Given the description of an element on the screen output the (x, y) to click on. 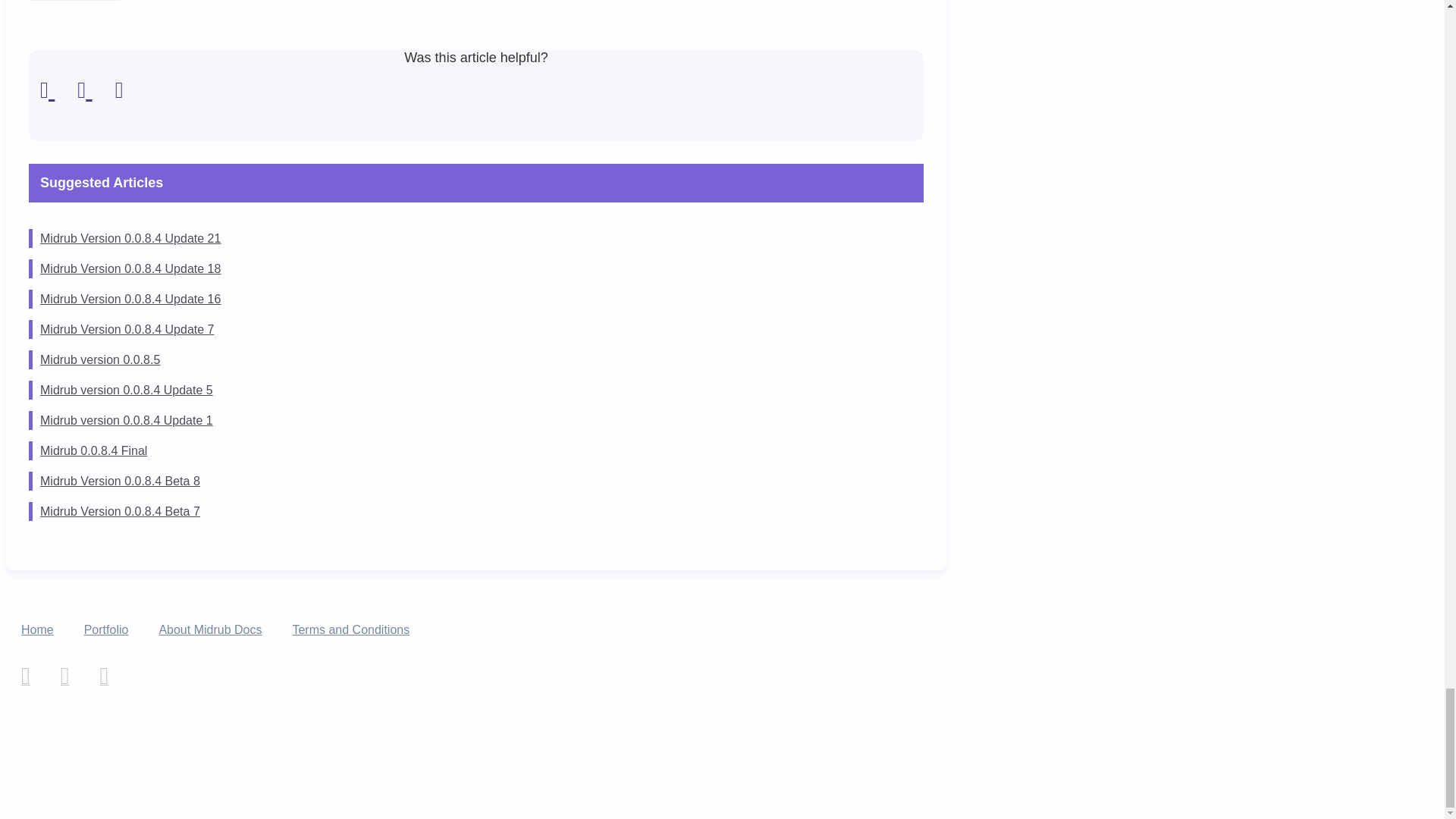
Midrub Version 0.0.8.4 Update 21 (130, 237)
Terms and Conditions (350, 629)
Midrub version 0.0.8.5 (100, 359)
Midrub Version 0.0.8.4 Update 18 (130, 268)
Midrub Version 0.0.8.4 Update 16 (130, 298)
Midrub version 0.0.8.4 Update 1 (126, 420)
Midrub Version 0.0.8.4 Beta 8 (120, 481)
Portfolio (106, 629)
Midrub Version 0.0.8.4 Beta 7 (120, 511)
Midrub version 0.0.8.4 Update 5 (126, 390)
Home (37, 629)
Midrub 0.0.8.4 Final (93, 450)
About Midrub Docs (210, 629)
Midrub Version 0.0.8.4 Update 7 (127, 328)
